Given the description of an element on the screen output the (x, y) to click on. 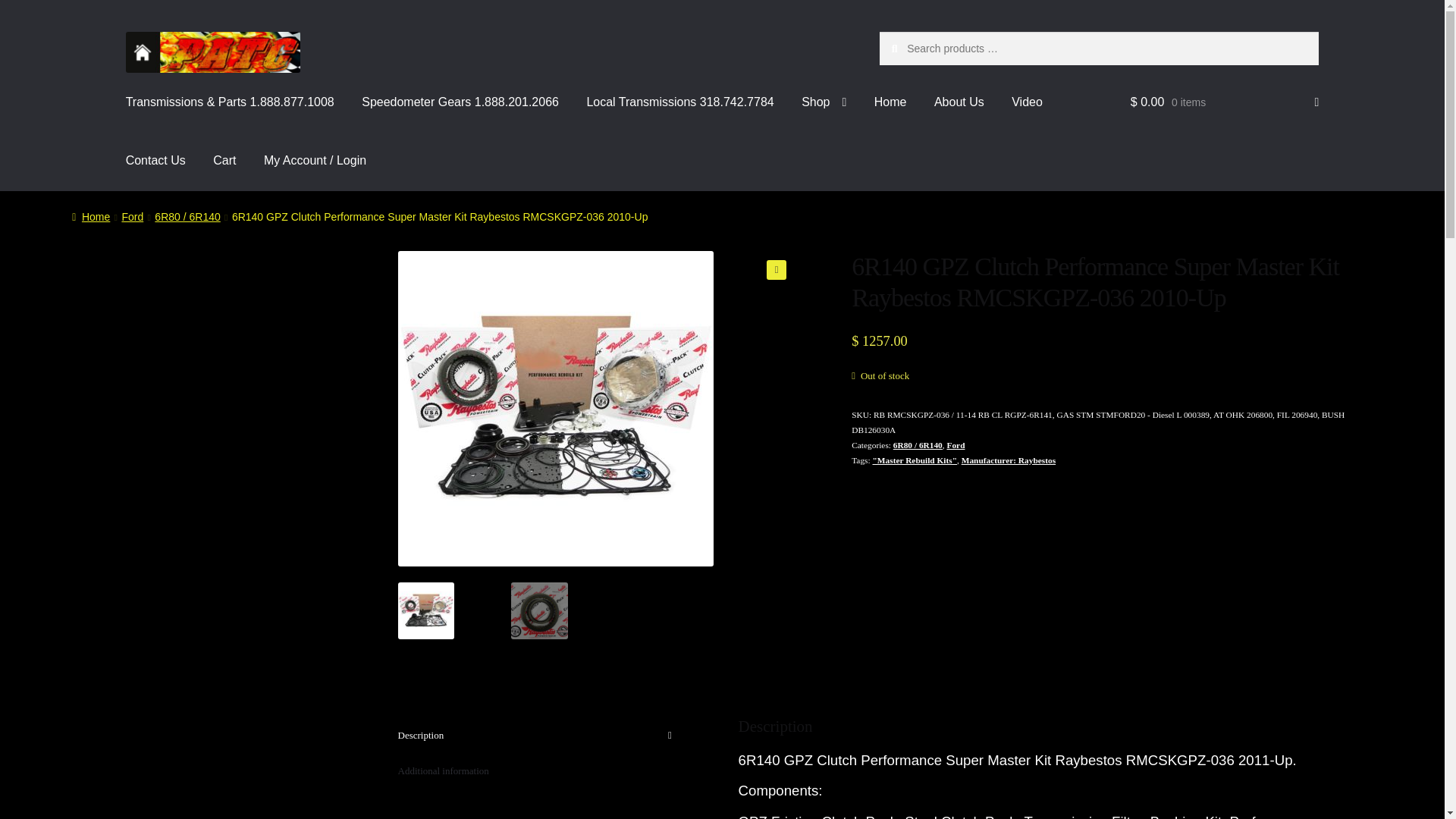
Contact Us (155, 160)
View your shopping cart (1225, 101)
Home (90, 216)
Ford (954, 444)
"Master Rebuild Kits" (914, 460)
About Us (958, 101)
Shop (824, 101)
Local Transmissions 318.742.7784 (679, 101)
Speedometer Gears 1.888.201.2066 (459, 101)
Video (1026, 101)
Description (539, 735)
Home (889, 101)
Manufacturer: Raybestos (1007, 460)
